Given the description of an element on the screen output the (x, y) to click on. 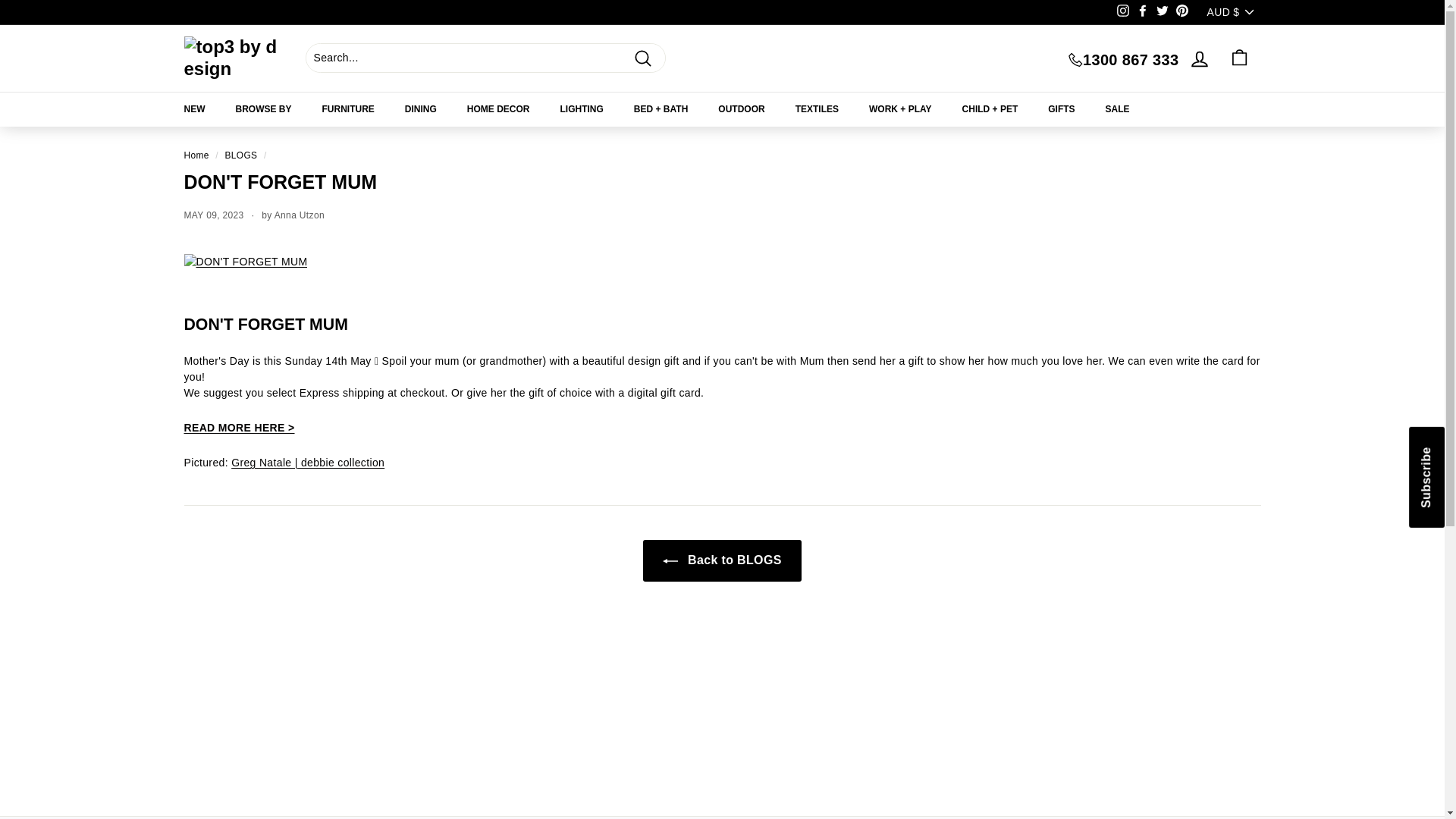
Pinterest (1182, 12)
top3 by design on Twitter (1162, 12)
Twitter (1162, 12)
DON'T FORGET MUM (238, 427)
Facebook (1142, 12)
NEW (193, 108)
top3 by design on Instagram (1122, 12)
1300 867 333 (1123, 59)
top3 by design on Facebook (1142, 12)
FURNITURE (348, 108)
BROWSE BY (262, 108)
Back to the frontpage (195, 154)
DON'T FORGET MUM! (245, 261)
top3 by design on Pinterest (1182, 12)
